Given the description of an element on the screen output the (x, y) to click on. 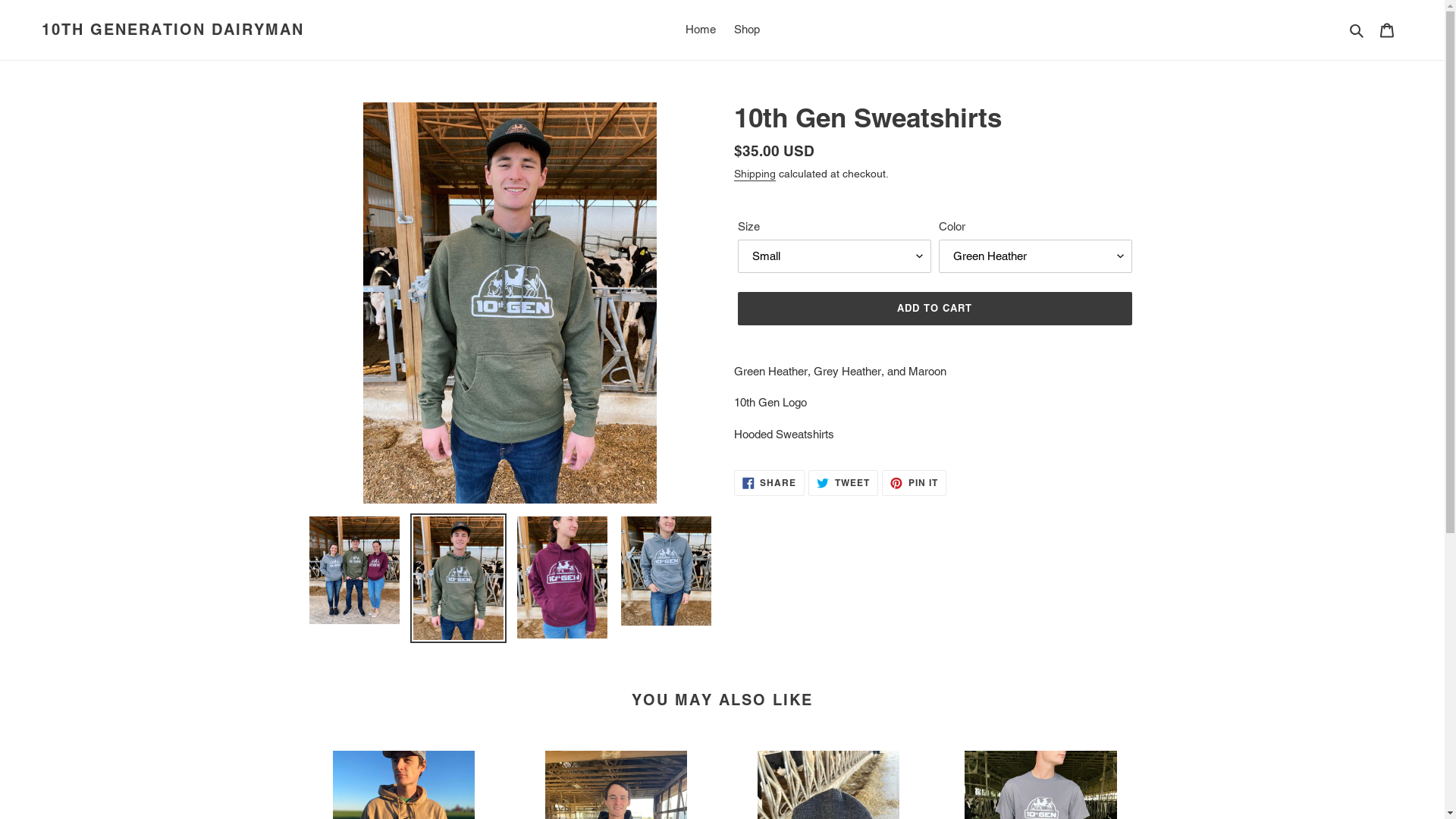
Shipping Element type: text (754, 174)
TWEET
TWEET ON TWITTER Element type: text (843, 482)
Shop Element type: text (746, 29)
10TH GENERATION DAIRYMAN Element type: text (172, 29)
PIN IT
PIN ON PINTEREST Element type: text (913, 482)
Search Element type: text (1357, 29)
SHARE
SHARE ON FACEBOOK Element type: text (769, 482)
Cart Element type: text (1386, 29)
Home Element type: text (700, 29)
ADD TO CART Element type: text (934, 308)
